Given the description of an element on the screen output the (x, y) to click on. 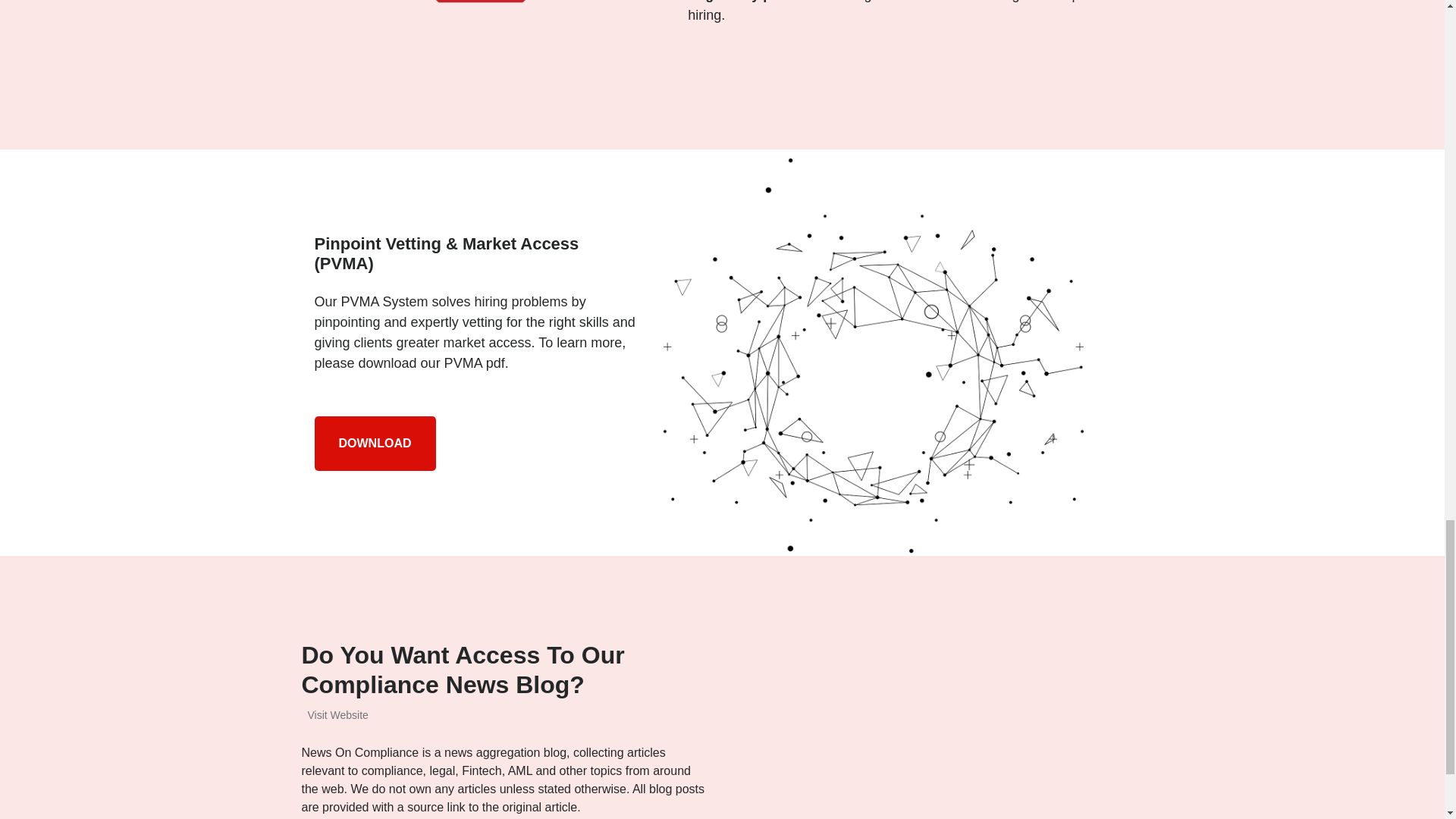
DOWNLOAD (374, 443)
Visit Website (334, 715)
DOWNLOAD (374, 442)
